Given the description of an element on the screen output the (x, y) to click on. 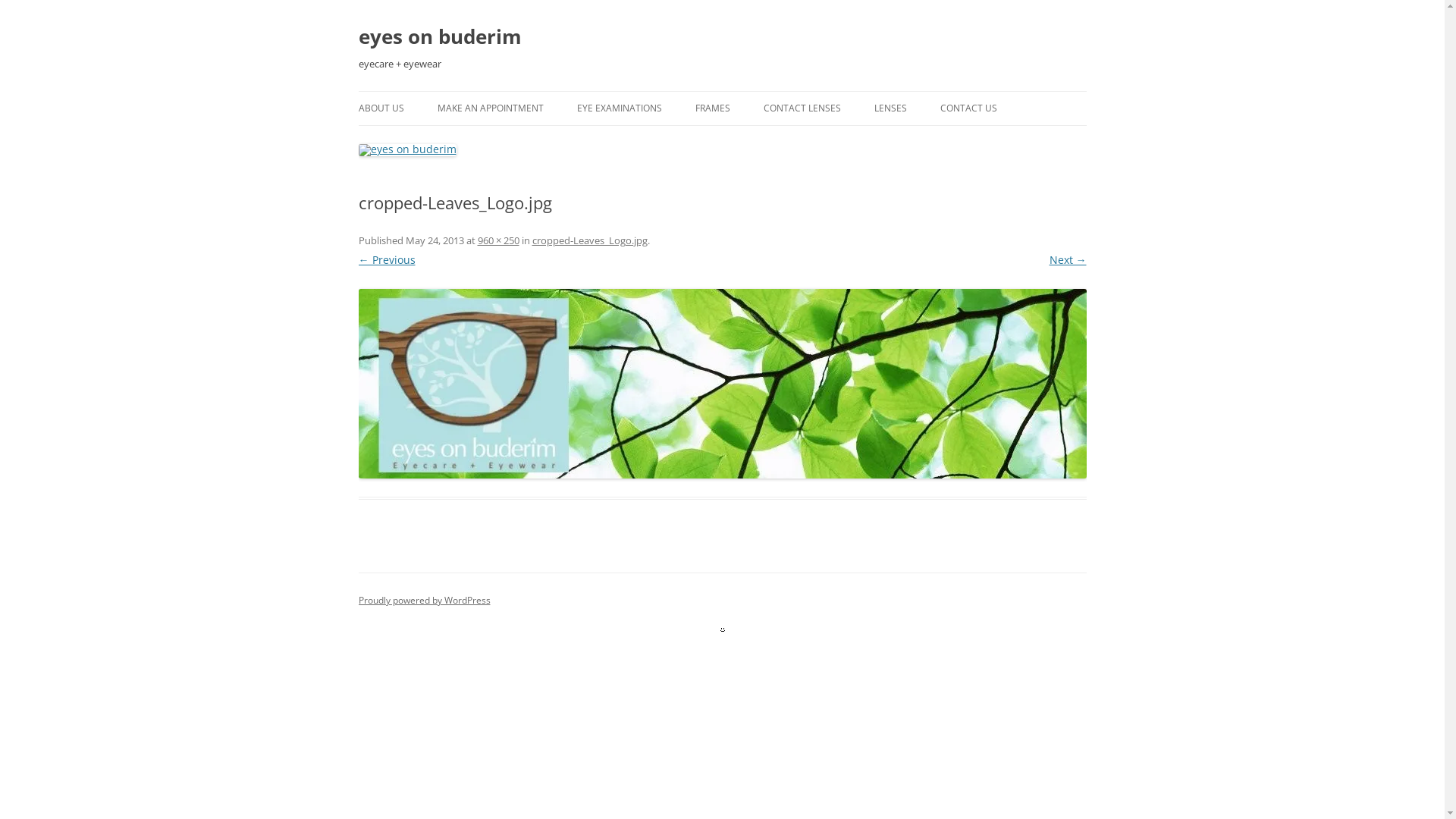
CONTACT US Element type: text (968, 108)
CONTACT LENS ORDER FORM Element type: text (838, 140)
Proudly powered by WordPress Element type: text (423, 599)
cropped-Leaves_Logo.jpg Element type: text (589, 240)
FEEDBACK FORM Element type: text (1016, 140)
cropped-Leaves_Logo.jpg Element type: hover (721, 383)
FRAMES Element type: text (711, 108)
ABOUT US Element type: text (380, 108)
MAKE AN APPOINTMENT Element type: text (489, 108)
OCT LASER SCAN AND DIGITAL RETINAL PHOTOGRAPHY Element type: text (652, 149)
LENSES Element type: text (889, 108)
Skip to content Element type: text (721, 91)
CONTACT LENSES Element type: text (801, 108)
EYE EXAMINATIONS Element type: text (618, 108)
PAYMENT DETAILS Element type: text (433, 140)
eyes on buderim Element type: text (438, 36)
